Given the description of an element on the screen output the (x, y) to click on. 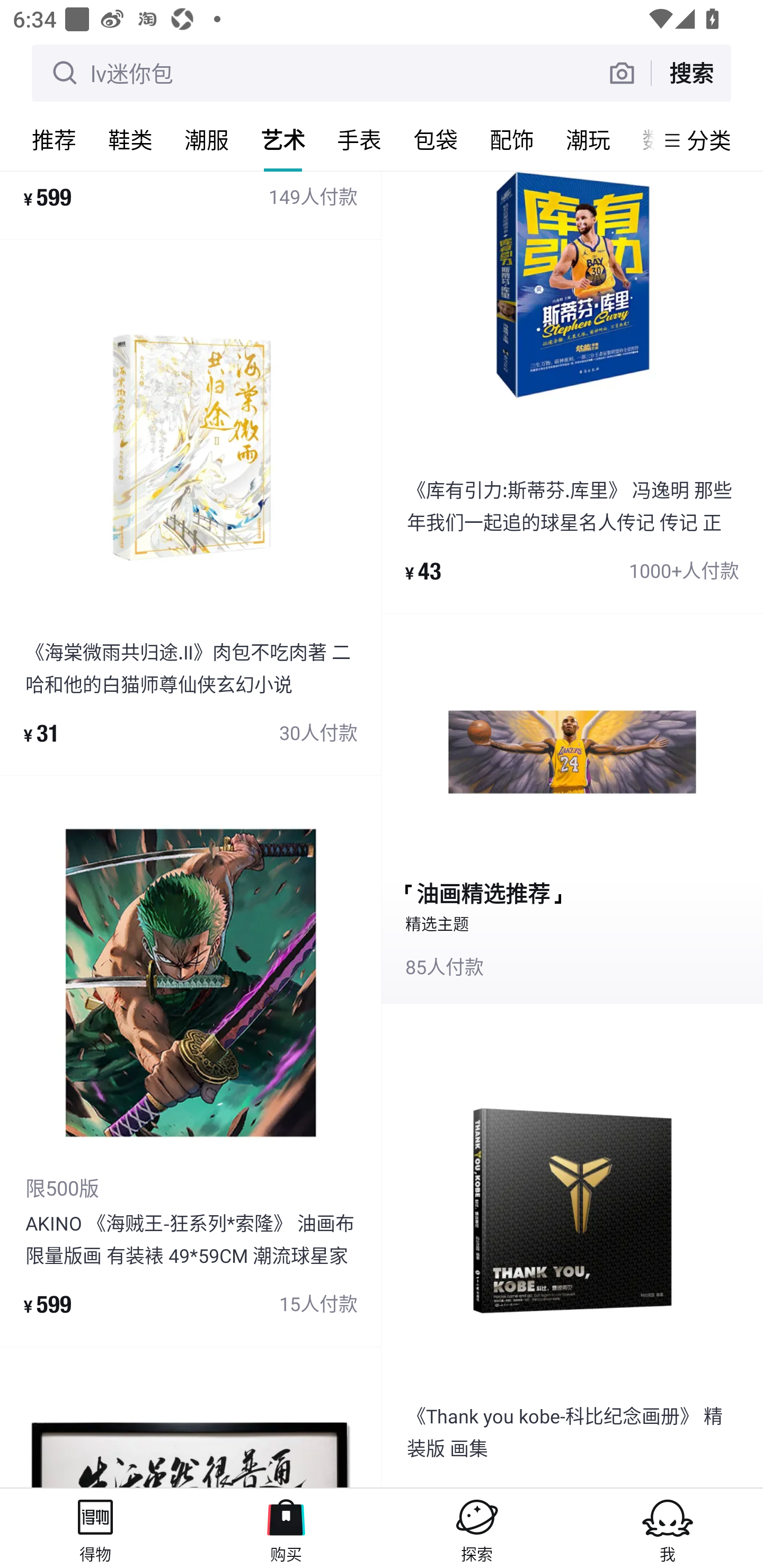
搜索 (690, 72)
推荐 (54, 139)
鞋类 (130, 139)
潮服 (206, 139)
艺术 (282, 139)
手表 (359, 139)
包袋 (435, 139)
配饰 (511, 139)
潮玩 (588, 139)
分类 (708, 139)
《海棠微雨共归途.Ⅱ》肉包不吃肉著 二
哈和他的白猫师尊仙侠玄幻小说 ¥ 31 30人付款 (190, 507)
油画精选推荐 精选主题 85人付款 (572, 808)
《Thank you kobe-科比纪念画册》 精
装版 画集 ¥ 49 104人付款 (572, 1245)
得物 (95, 1528)
购买 (285, 1528)
探索 (476, 1528)
我 (667, 1528)
